Given the description of an element on the screen output the (x, y) to click on. 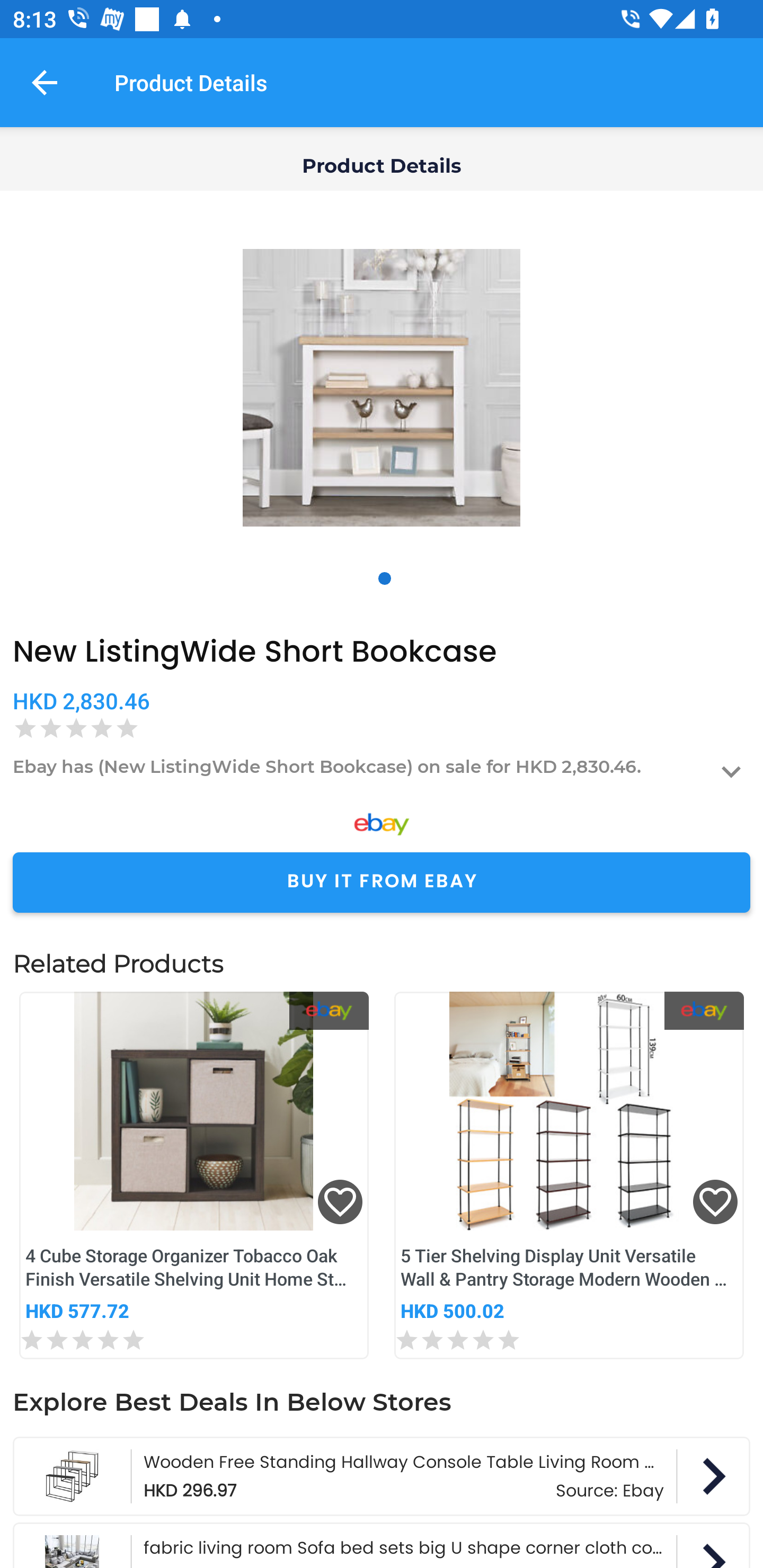
Navigate up (44, 82)
BUY IT FROM EBAY (381, 882)
